Given the description of an element on the screen output the (x, y) to click on. 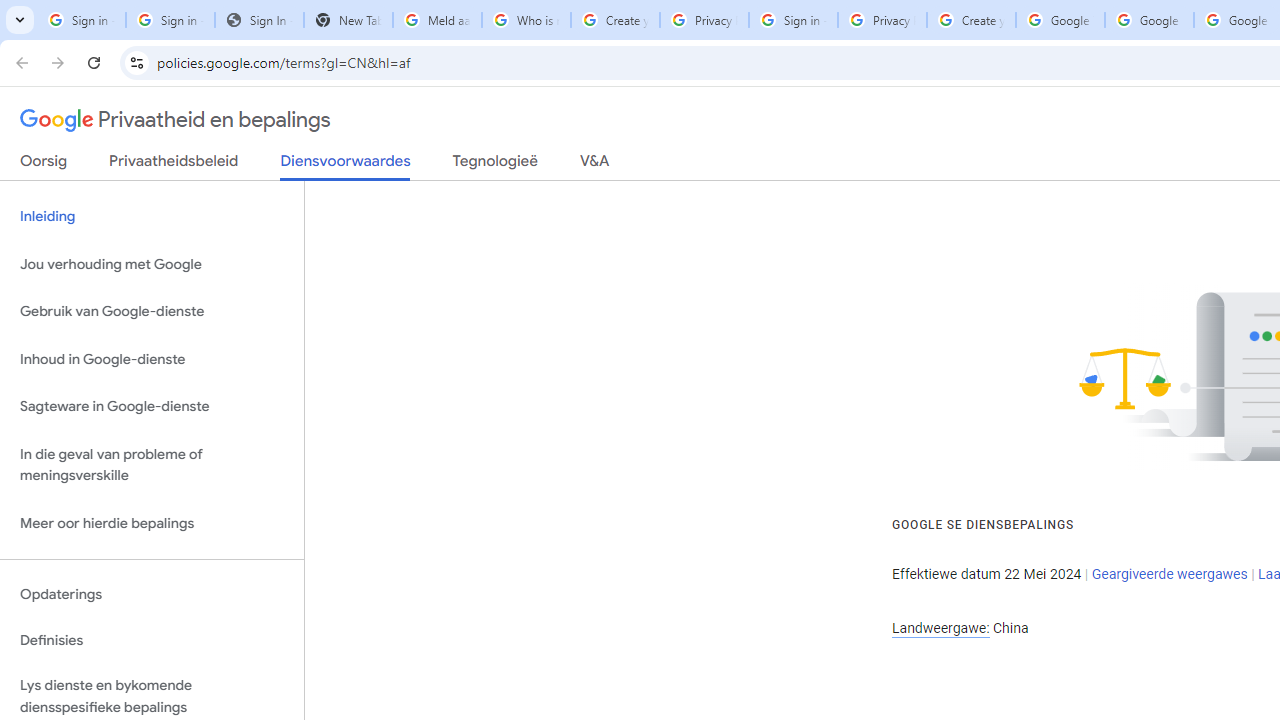
Who is my administrator? - Google Account Help (526, 20)
Opdaterings (152, 594)
Sign in - Google Accounts (170, 20)
Sign in - Google Accounts (793, 20)
Privaatheid en bepalings (175, 120)
Landweergawe: (940, 628)
Create your Google Account (615, 20)
Jou verhouding met Google (152, 263)
Sign in - Google Accounts (81, 20)
Privaatheidsbeleid (173, 165)
